Given the description of an element on the screen output the (x, y) to click on. 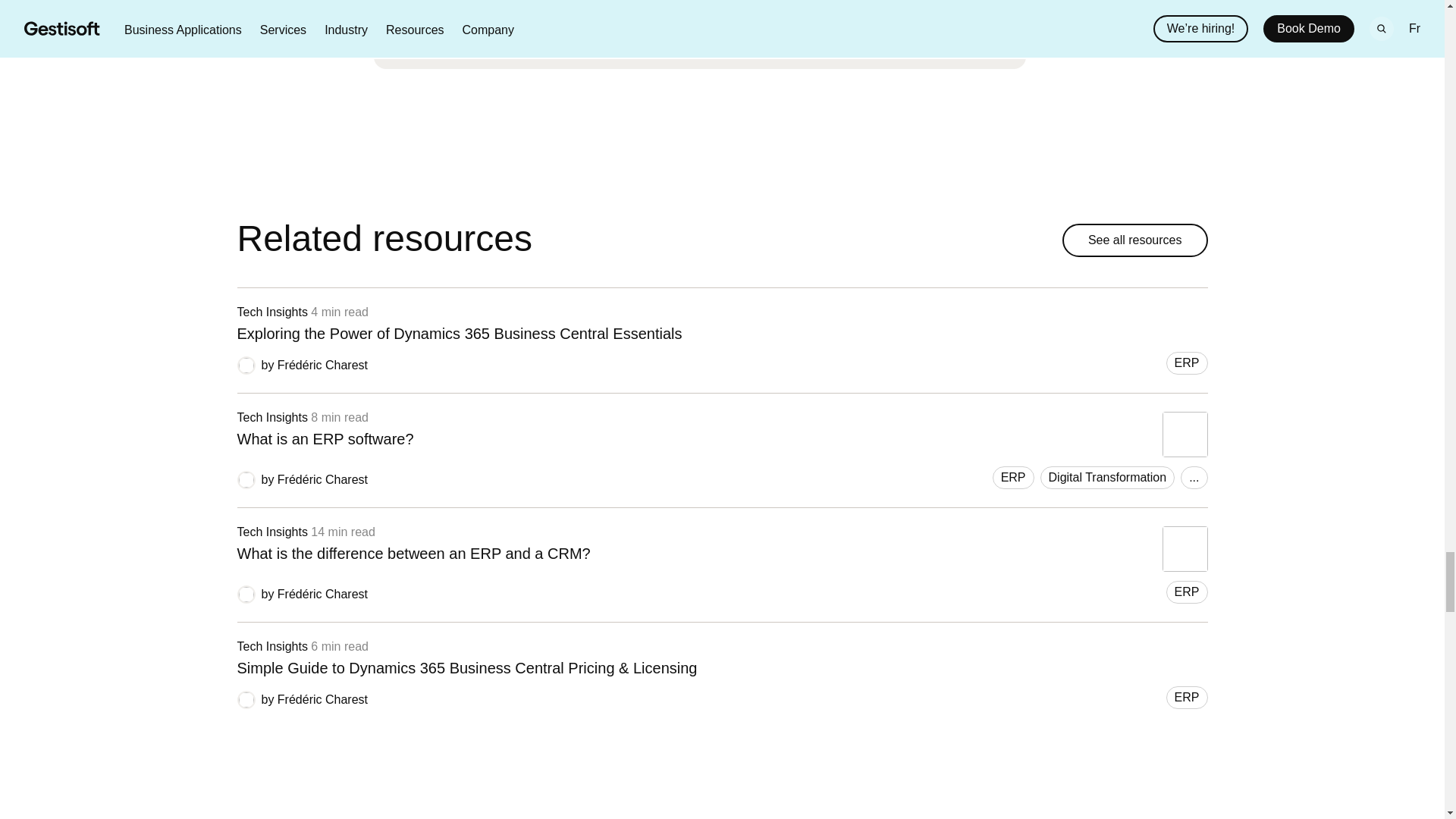
See all resources (1135, 240)
ERP (1187, 591)
Digital Transformation (721, 434)
... (1107, 477)
ERP (1193, 477)
ERP (1187, 697)
ERP (1012, 477)
